Given the description of an element on the screen output the (x, y) to click on. 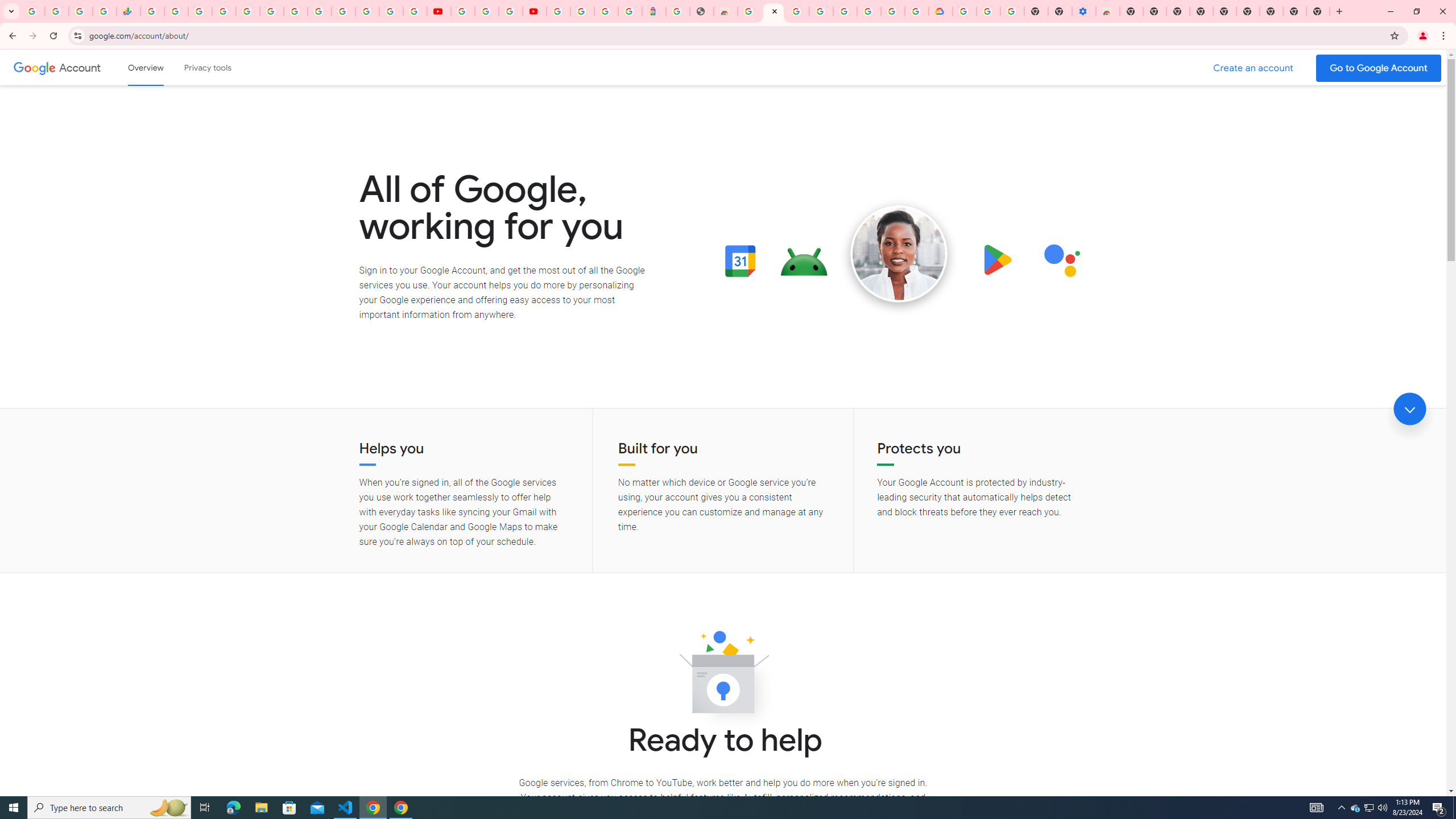
Go to your Google Account (1378, 67)
Content Creator Programs & Opportunities - YouTube Creators (533, 11)
Google Account Help (844, 11)
Google Account (80, 67)
Sign in - Google Accounts (343, 11)
Privacy tools (207, 67)
Privacy Checkup (414, 11)
New Tab (1131, 11)
